Given the description of an element on the screen output the (x, y) to click on. 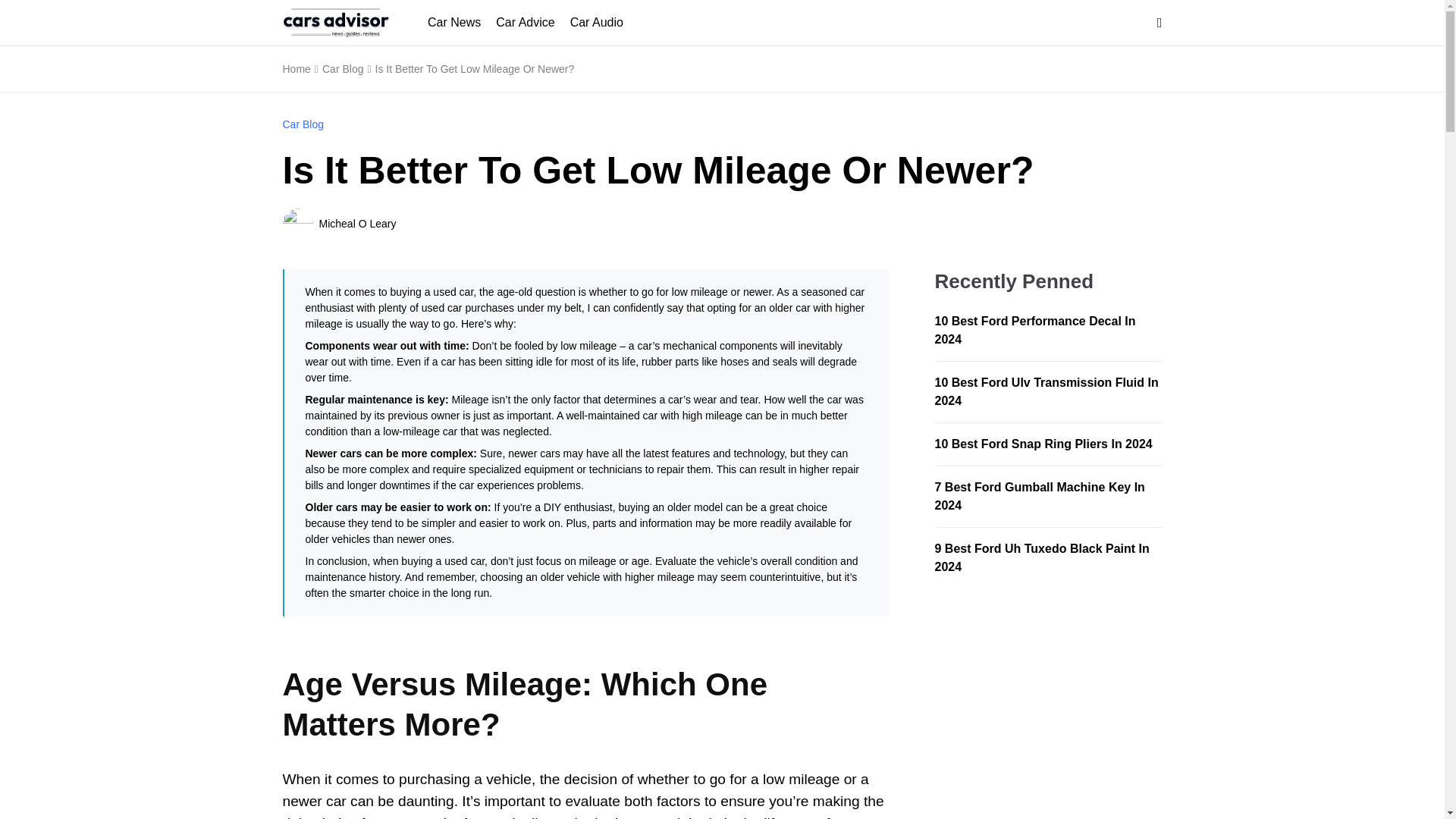
Car News (454, 22)
Car Advice (525, 22)
Car Audio (596, 22)
